Given the description of an element on the screen output the (x, y) to click on. 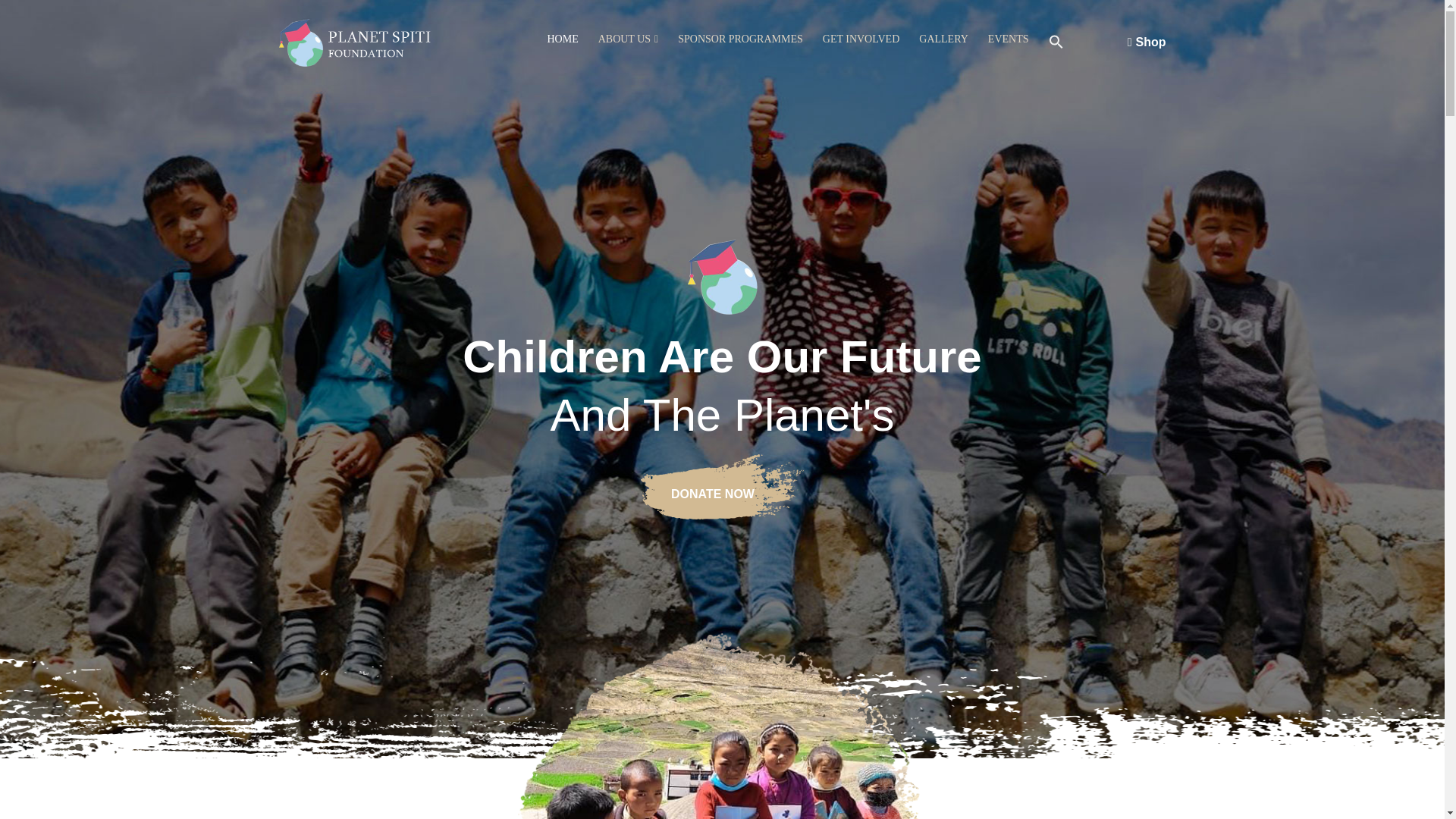
DONATE NOW (721, 485)
HOME (562, 39)
SPONSOR PROGRAMMES (740, 39)
EVENTS (1008, 39)
Shop (1146, 42)
GALLERY (943, 39)
Planet Spiti Foundation - Just another WordPress site (354, 41)
ABOUT US (624, 39)
GET INVOLVED (860, 39)
